Given the description of an element on the screen output the (x, y) to click on. 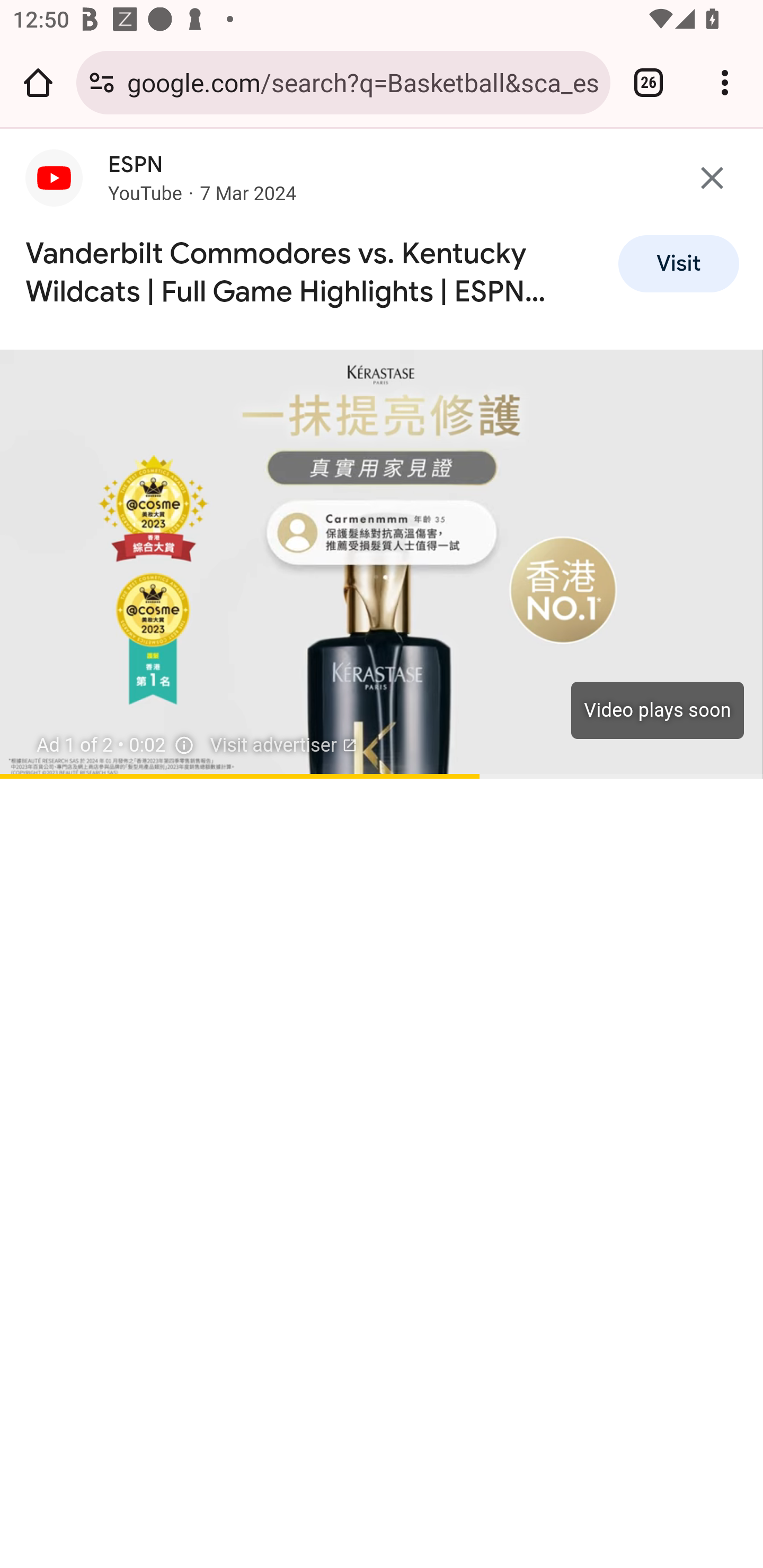
Open the home page (38, 82)
Connection is secure (101, 82)
Switch or close tabs (648, 82)
Customize and control Google Chrome (724, 82)
Close (711, 177)
My Ad Center (184, 745)
